Given the description of an element on the screen output the (x, y) to click on. 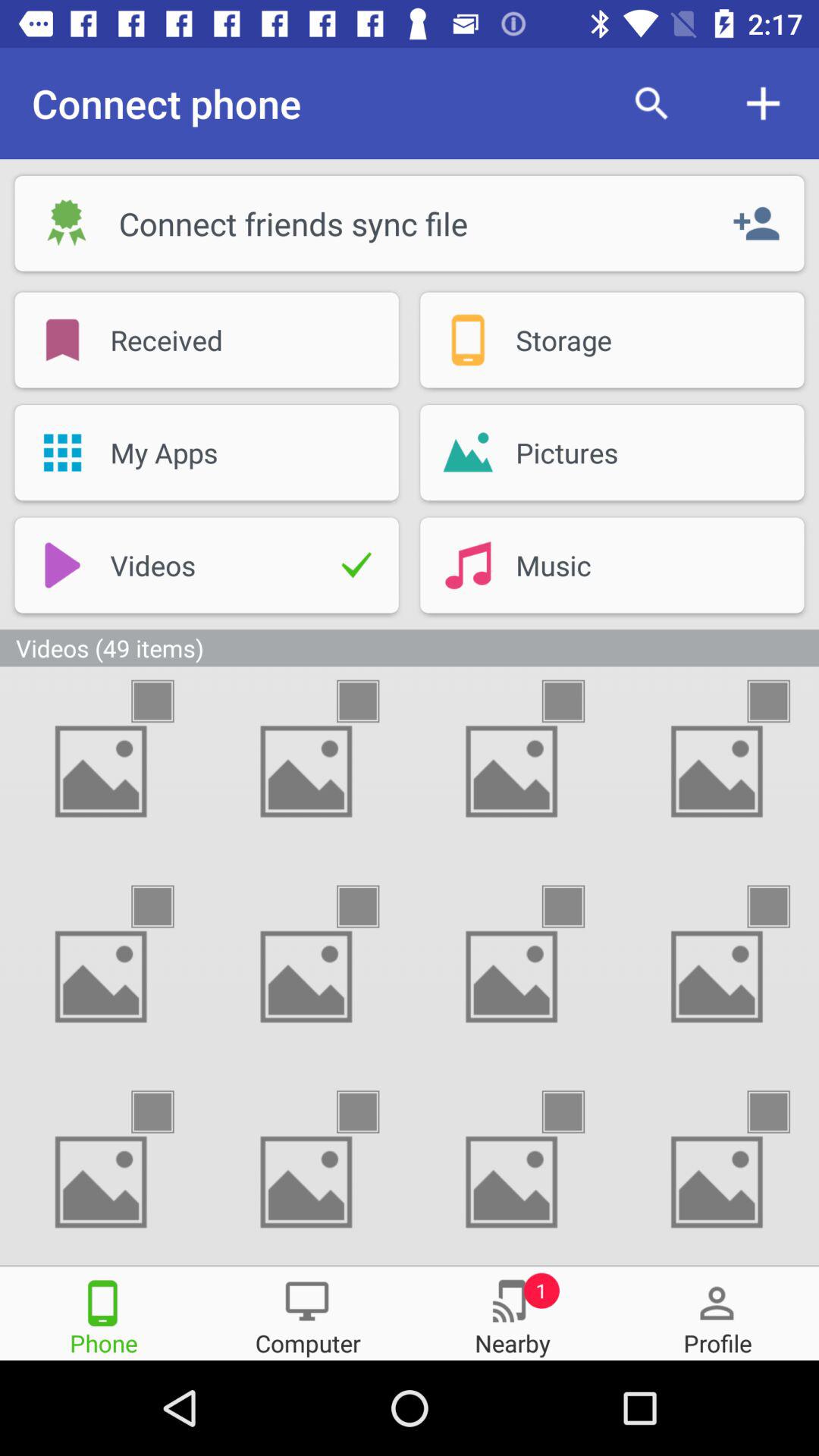
check thumbnail to select (371, 906)
